Given the description of an element on the screen output the (x, y) to click on. 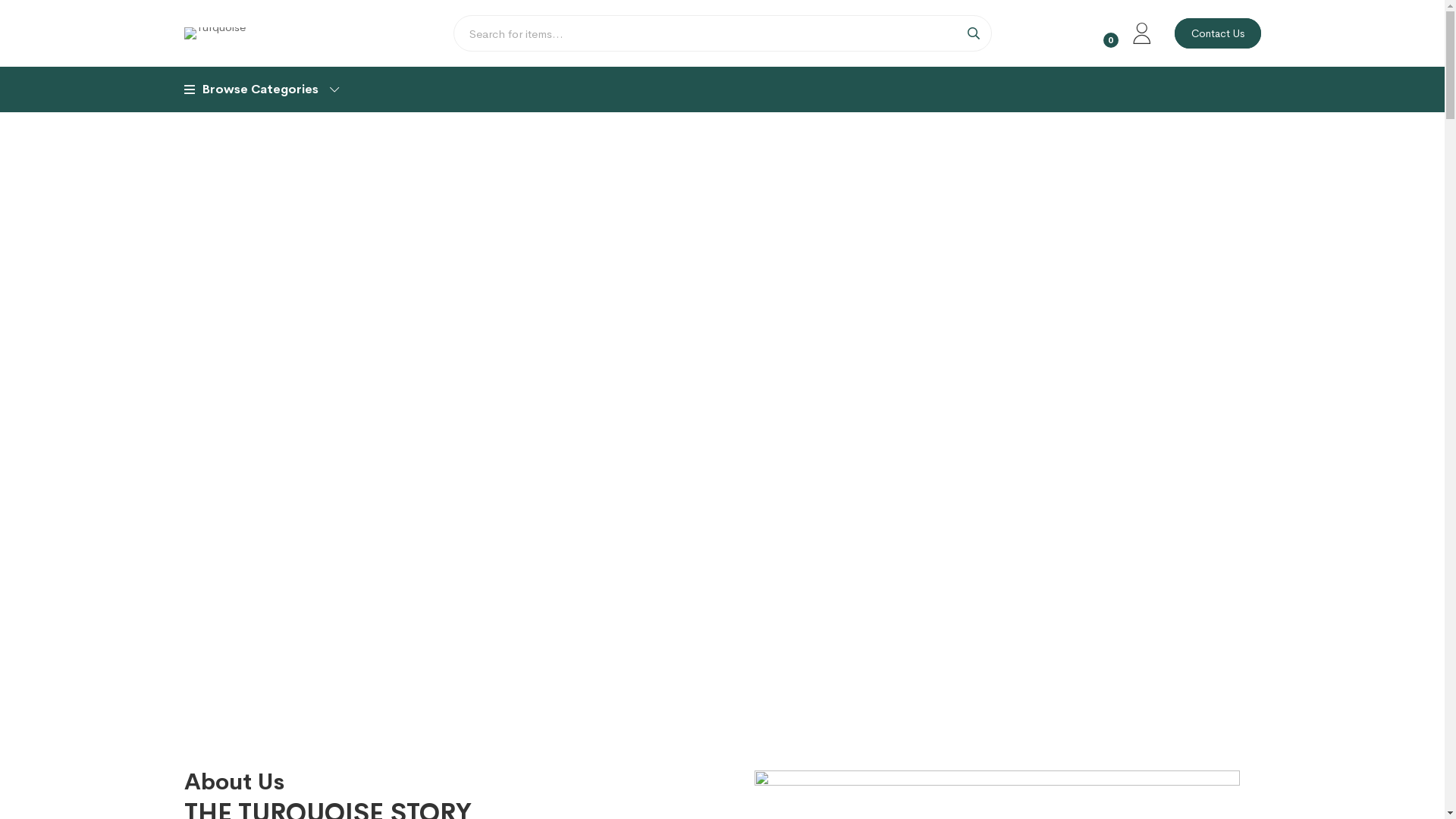
Browse Categories Element type: text (260, 89)
View your shopping cart Element type: hover (1097, 32)
Contact Us Element type: text (1216, 33)
Search for: Element type: hover (722, 33)
